Given the description of an element on the screen output the (x, y) to click on. 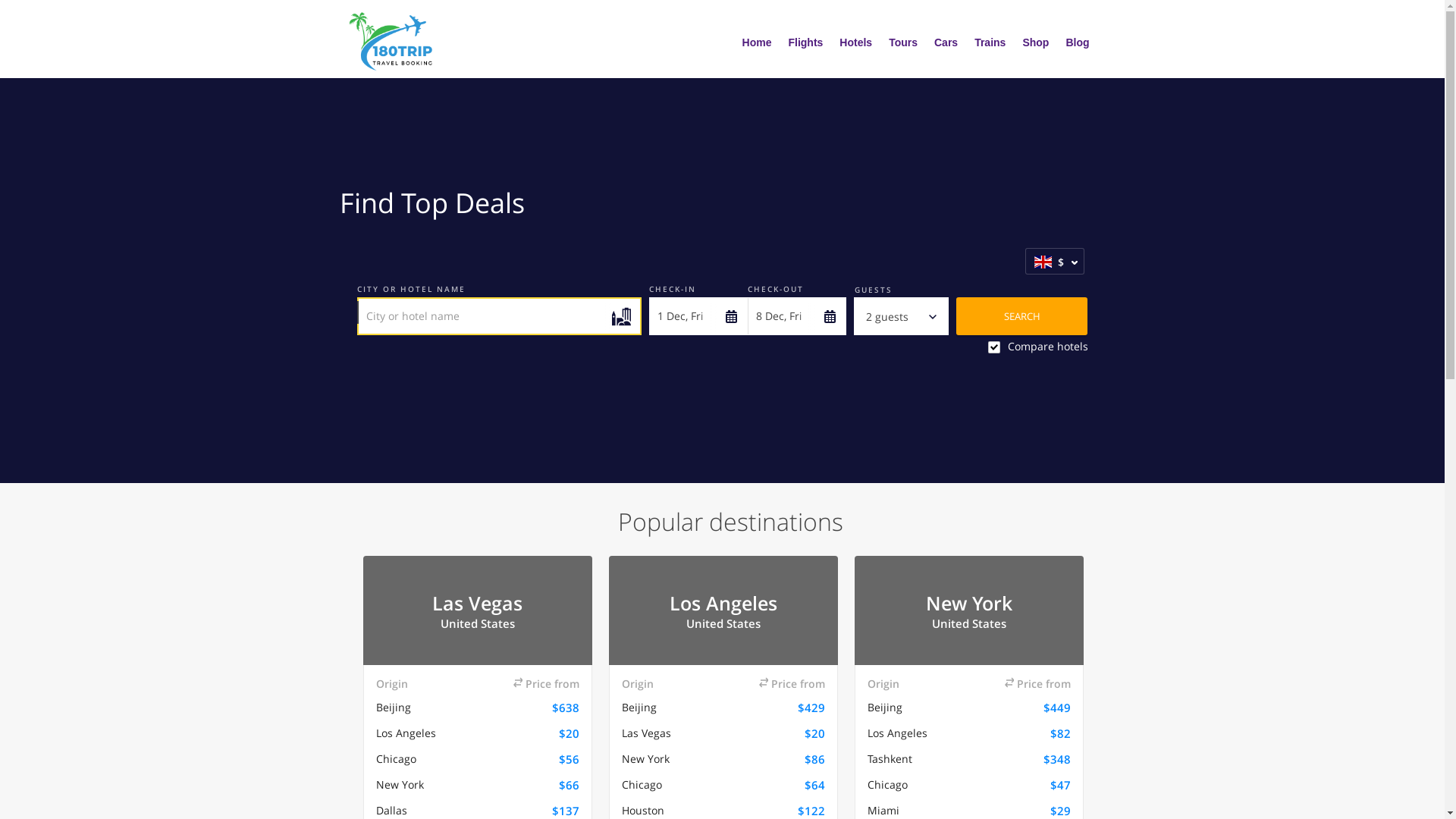
Flights Element type: text (805, 43)
Trains Element type: text (989, 43)
Shop Element type: text (1035, 43)
Cars Element type: text (945, 43)
Blog Element type: text (1076, 43)
Hotels Element type: text (855, 43)
Tours Element type: text (903, 43)
SEARCH Element type: text (1022, 316)
Home Element type: text (756, 43)
